Given the description of an element on the screen output the (x, y) to click on. 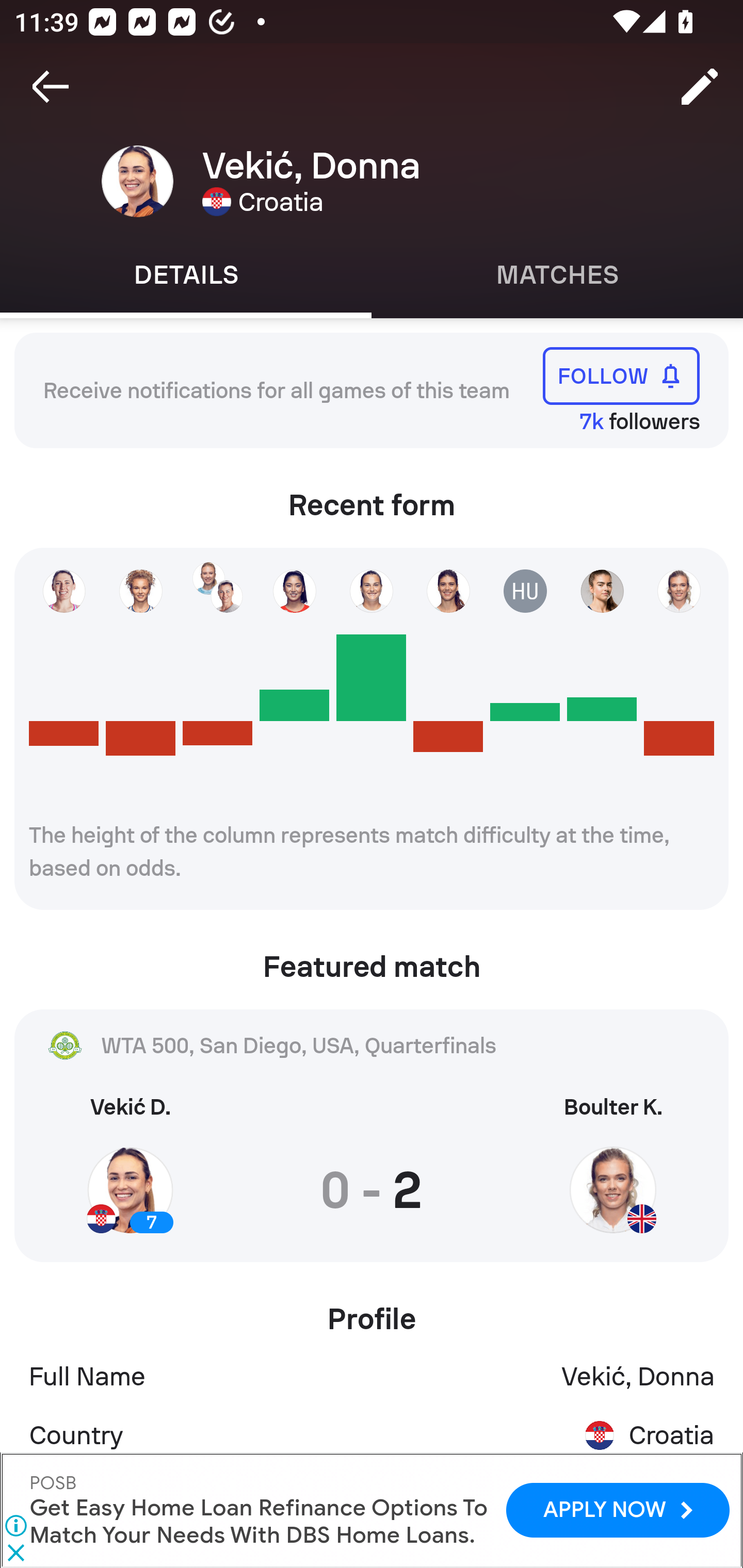
Navigate up (50, 86)
Edit (699, 86)
Matches MATCHES (557, 275)
FOLLOW (621, 375)
POSB (53, 1482)
APPLY NOW (616, 1510)
